Given the description of an element on the screen output the (x, y) to click on. 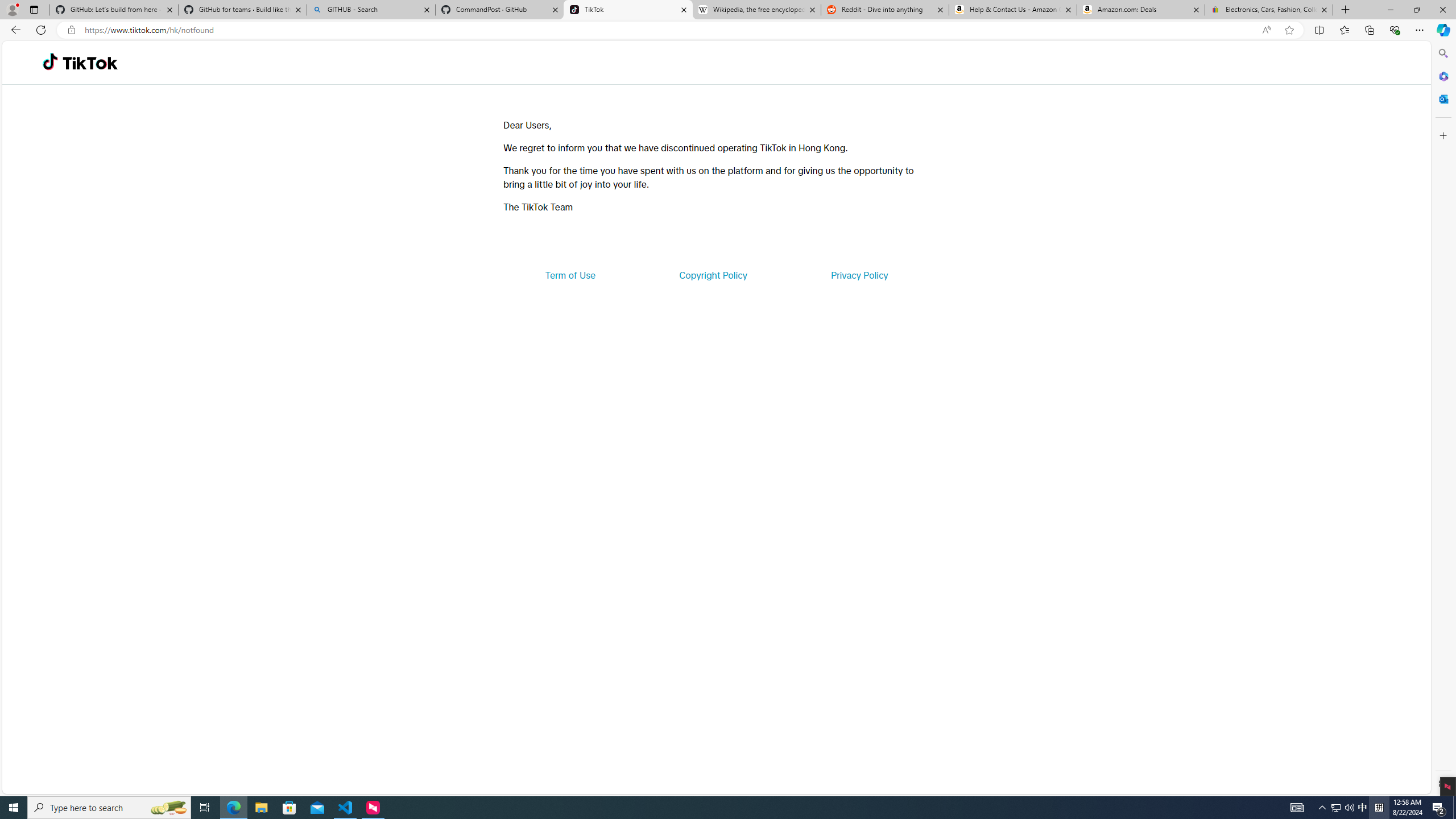
Privacy Policy (858, 274)
TikTok (628, 9)
Help & Contact Us - Amazon Customer Service (1012, 9)
GITHUB - Search (370, 9)
Copyright Policy (712, 274)
